Given the description of an element on the screen output the (x, y) to click on. 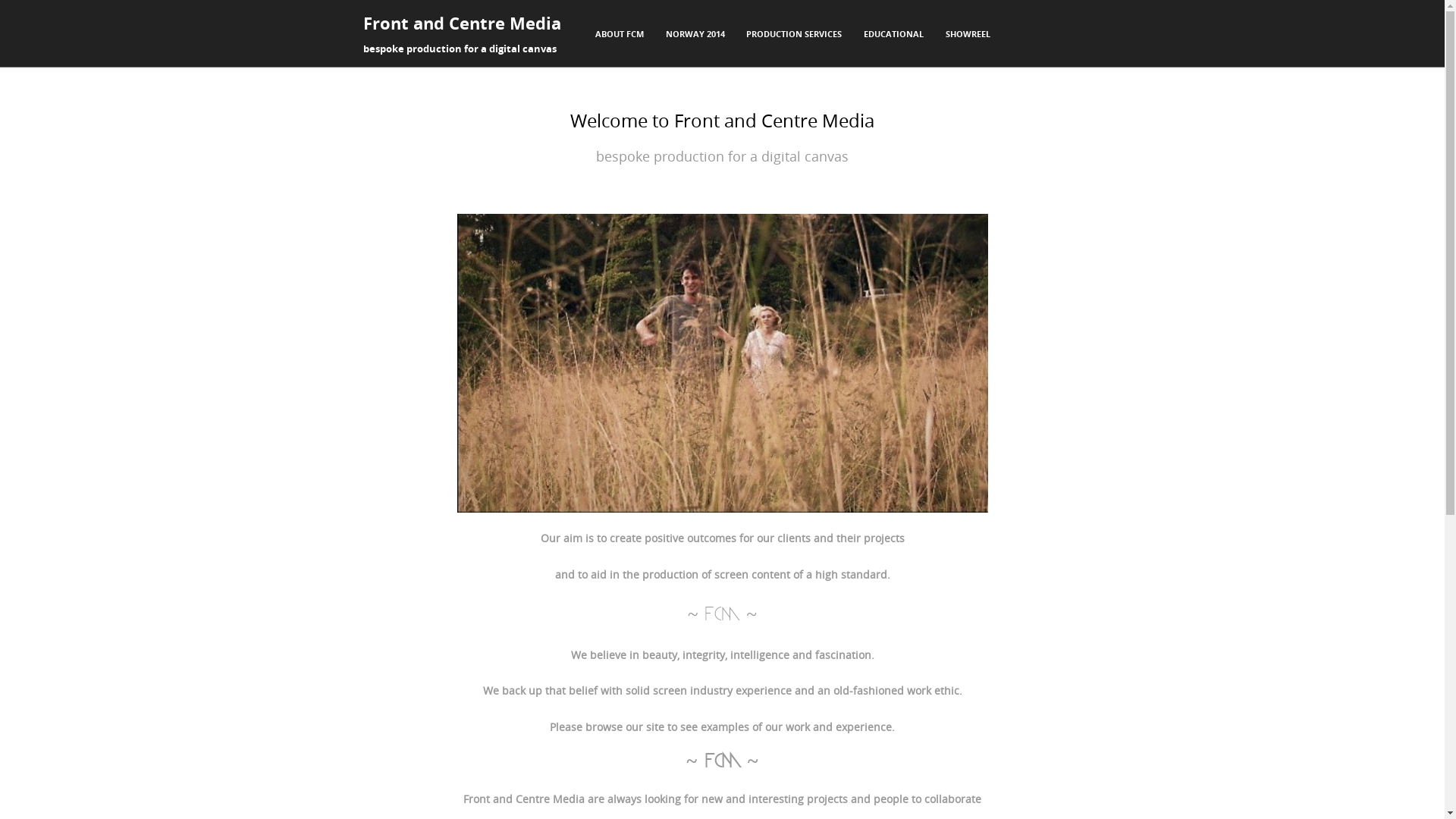
ABOUT FCM Element type: text (619, 34)
SHOWREEL Element type: text (967, 34)
EDUCATIONAL Element type: text (893, 34)
NORWAY 2014 Element type: text (694, 34)
SKIP TO CONTENT Element type: text (619, 28)
Front and Centre Media Element type: text (461, 22)
Search Element type: text (26, 14)
PRODUCTION SERVICES Element type: text (794, 34)
